Given the description of an element on the screen output the (x, y) to click on. 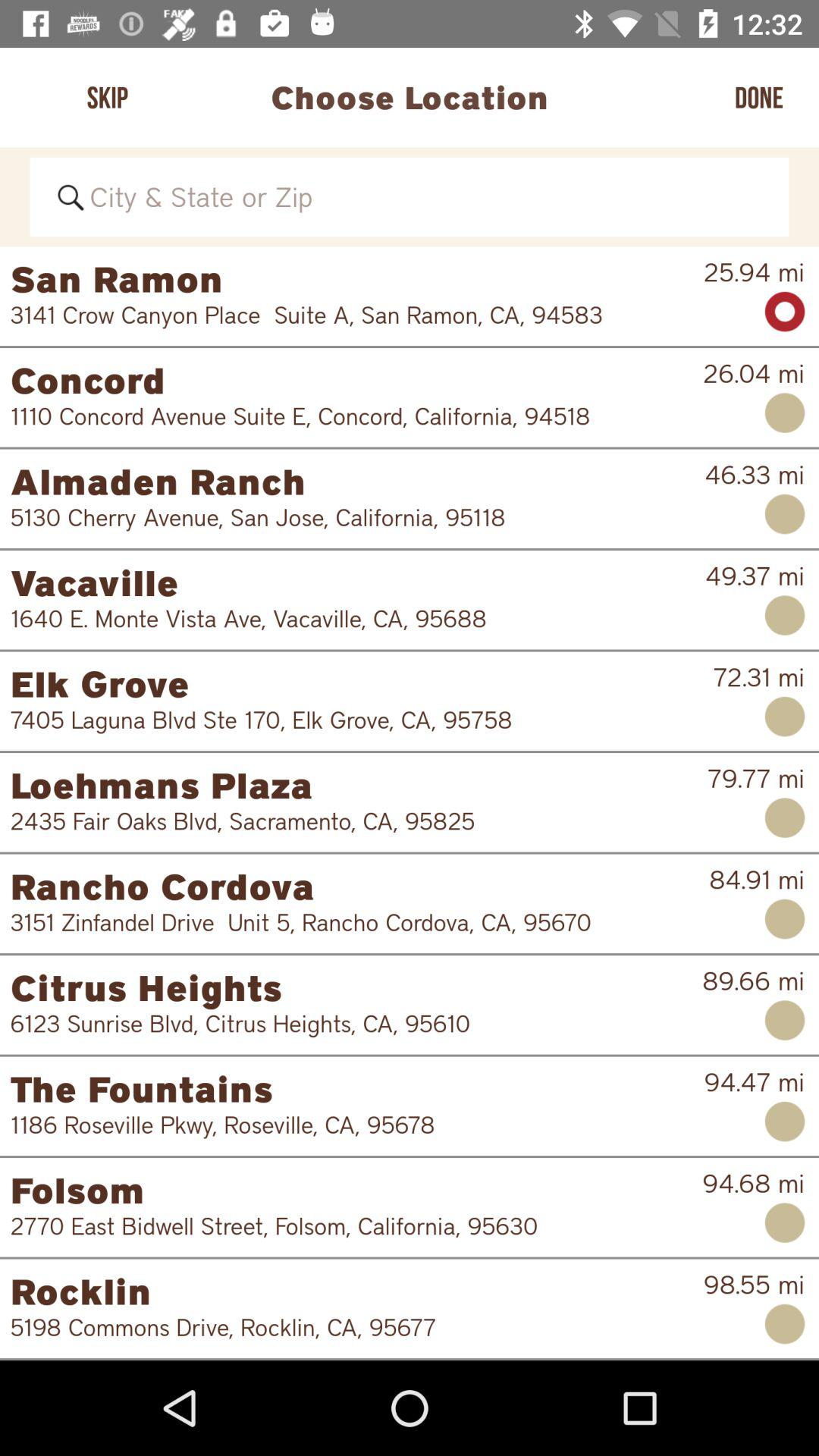
enter location in box (409, 196)
